Given the description of an element on the screen output the (x, y) to click on. 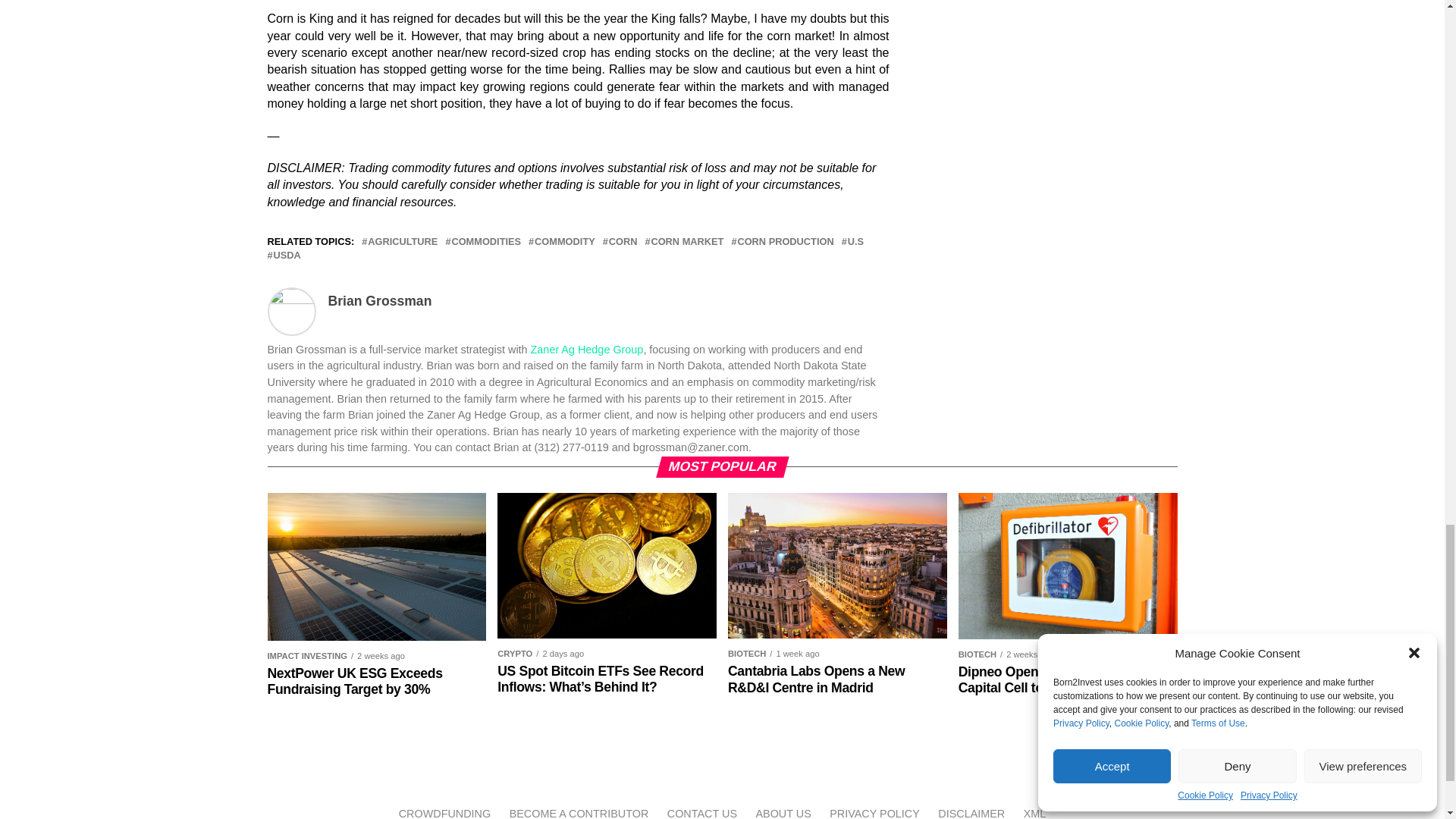
Posts by Brian Grossman (378, 300)
